Given the description of an element on the screen output the (x, y) to click on. 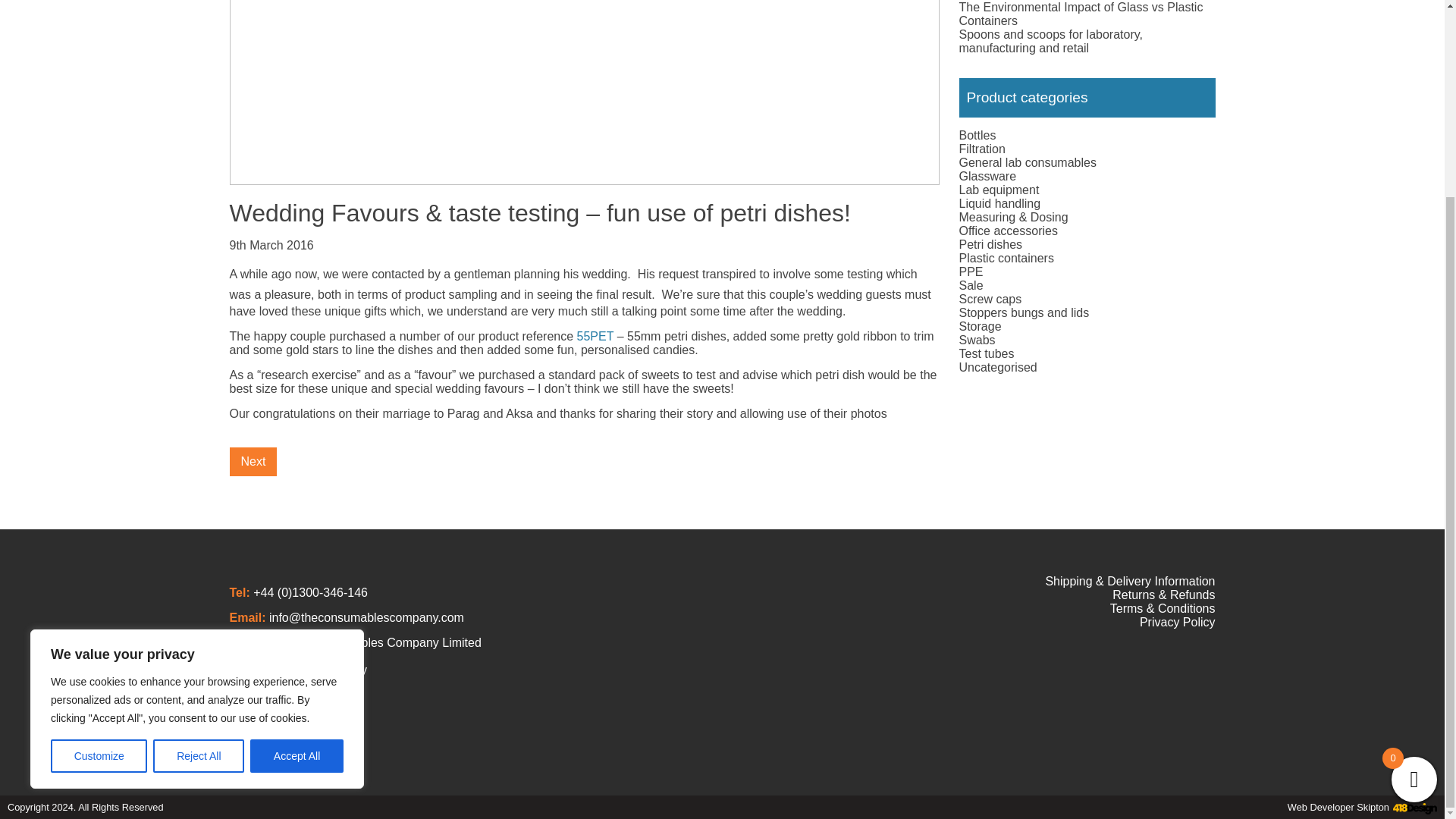
General lab consumables (1027, 162)
Lab equipment (998, 189)
Bottles (976, 134)
Next (252, 461)
55PET (595, 336)
Accept All (296, 507)
Reject All (198, 507)
Glassware (987, 175)
Filtration (981, 148)
Customize (98, 507)
